Given the description of an element on the screen output the (x, y) to click on. 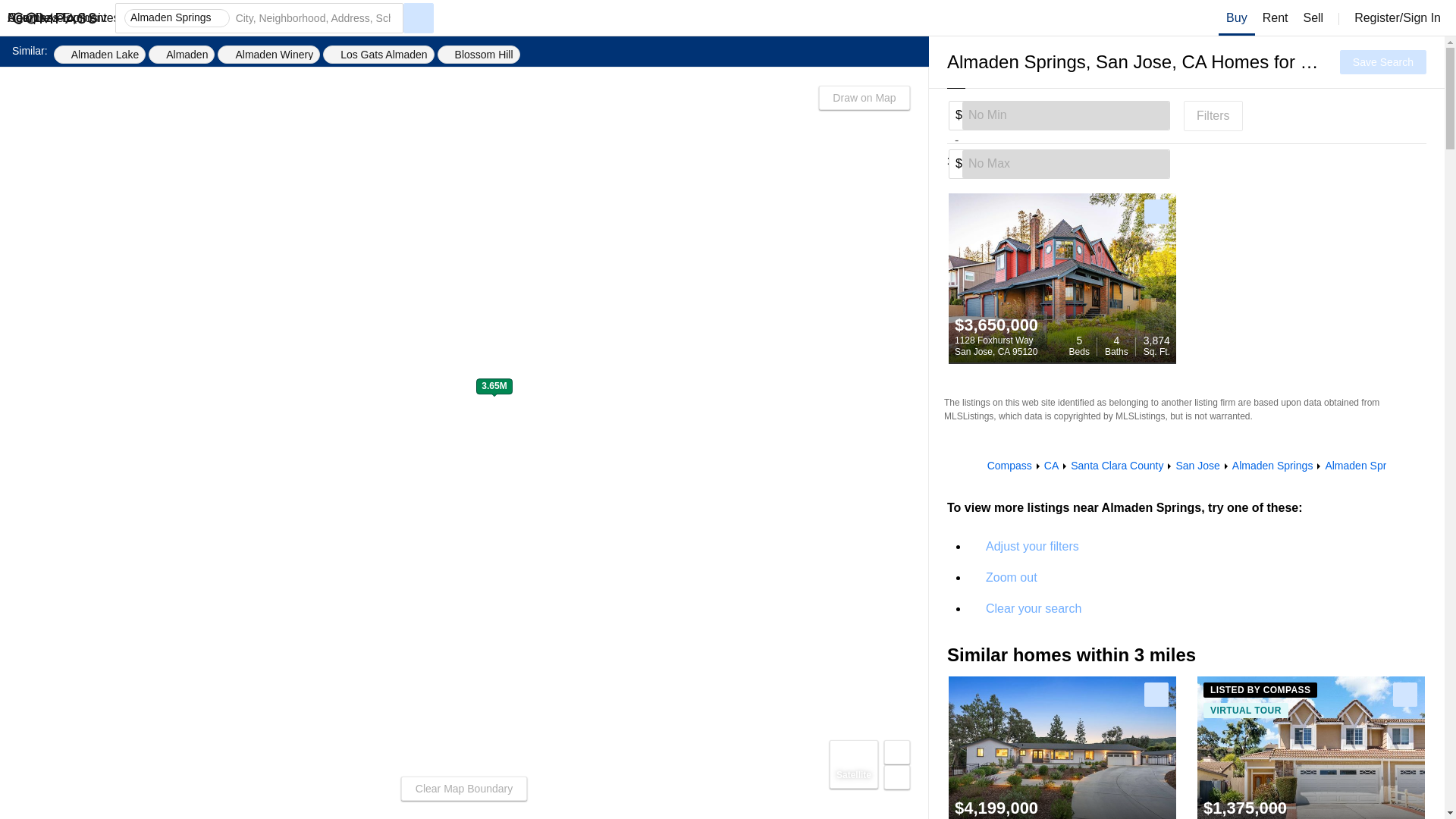
Los Gats Almaden (378, 54)
Santa Clara County (995, 345)
Save Search (1116, 465)
Blossom Hill (1382, 61)
No Min (478, 54)
Almaden Springs (1065, 115)
Almaden (1272, 465)
Compass (181, 54)
Adjust your filters (1009, 465)
Almaden Winery (1032, 546)
CA (268, 54)
Buy (1050, 465)
Almaden Lake (1236, 18)
No Max (100, 54)
